Given the description of an element on the screen output the (x, y) to click on. 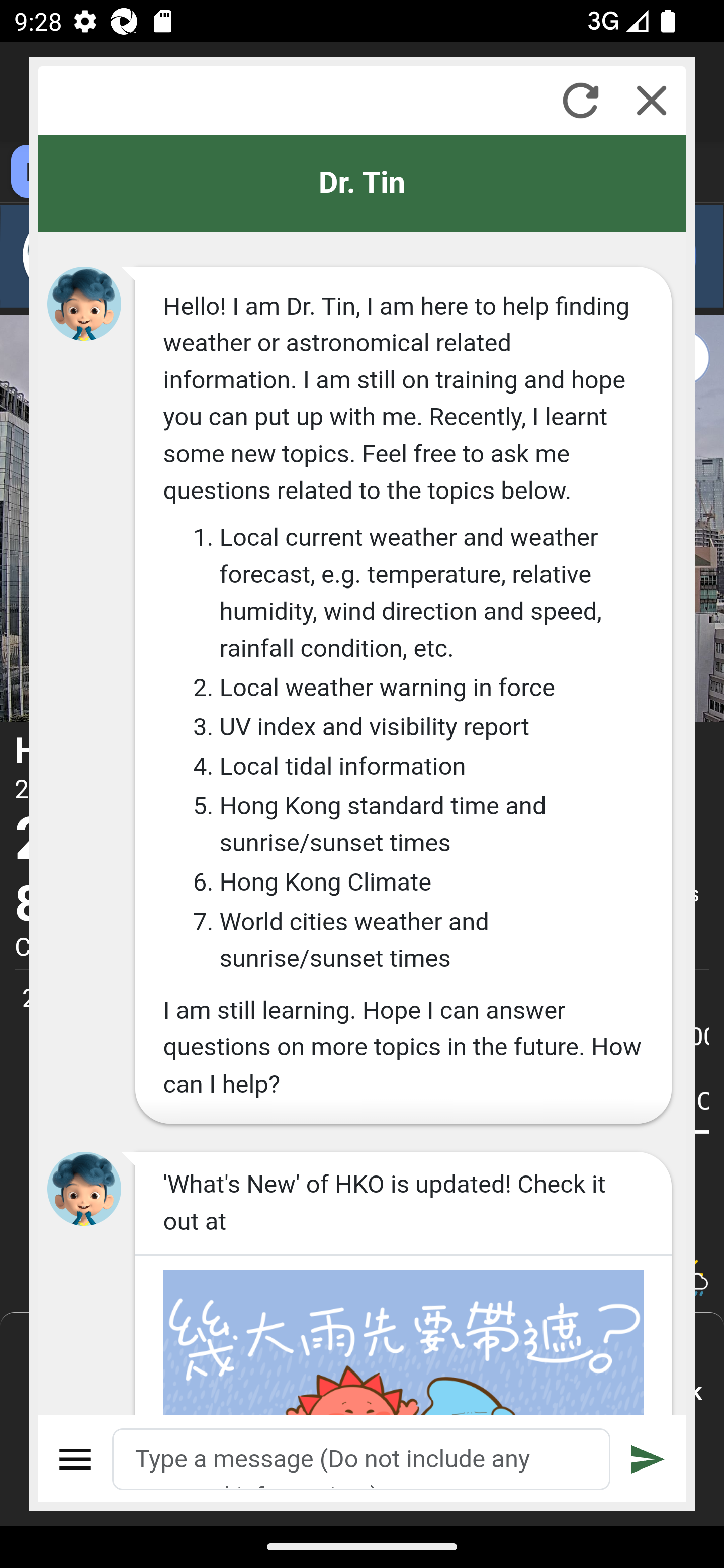
Refresh (580, 100)
Close (651, 100)
Menu (75, 1458)
Submit (648, 1458)
